Given the description of an element on the screen output the (x, y) to click on. 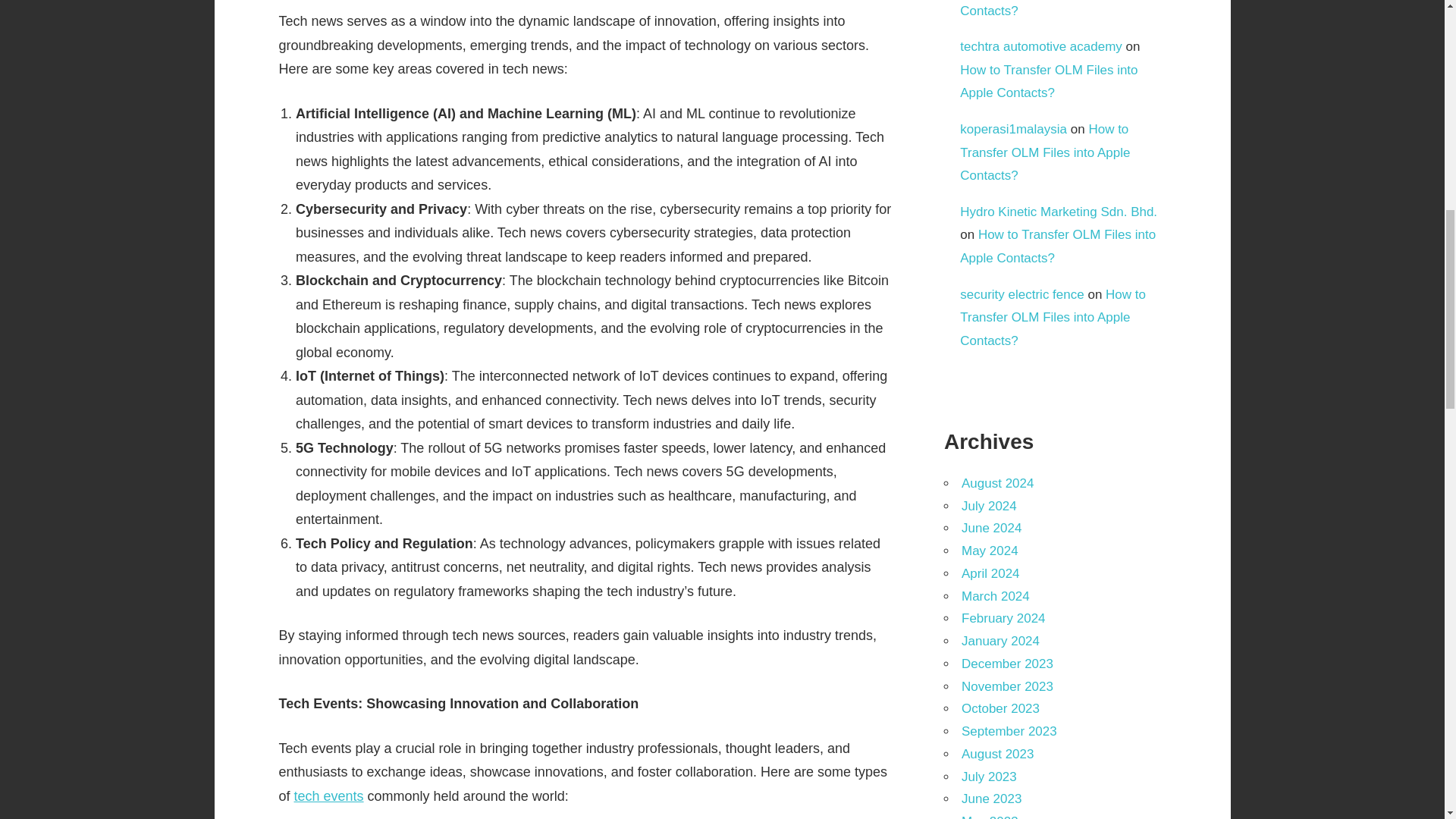
Hydro Kinetic Marketing Sdn. Bhd. (1058, 211)
June 2024 (991, 527)
How to Transfer OLM Files into Apple Contacts? (1050, 8)
May 2024 (988, 550)
security electric fence (1021, 293)
How to Transfer OLM Files into Apple Contacts? (1052, 316)
techtra automotive academy (1040, 46)
July 2024 (988, 505)
koperasi1malaysia (1013, 129)
How to Transfer OLM Files into Apple Contacts? (1048, 81)
